Given the description of an element on the screen output the (x, y) to click on. 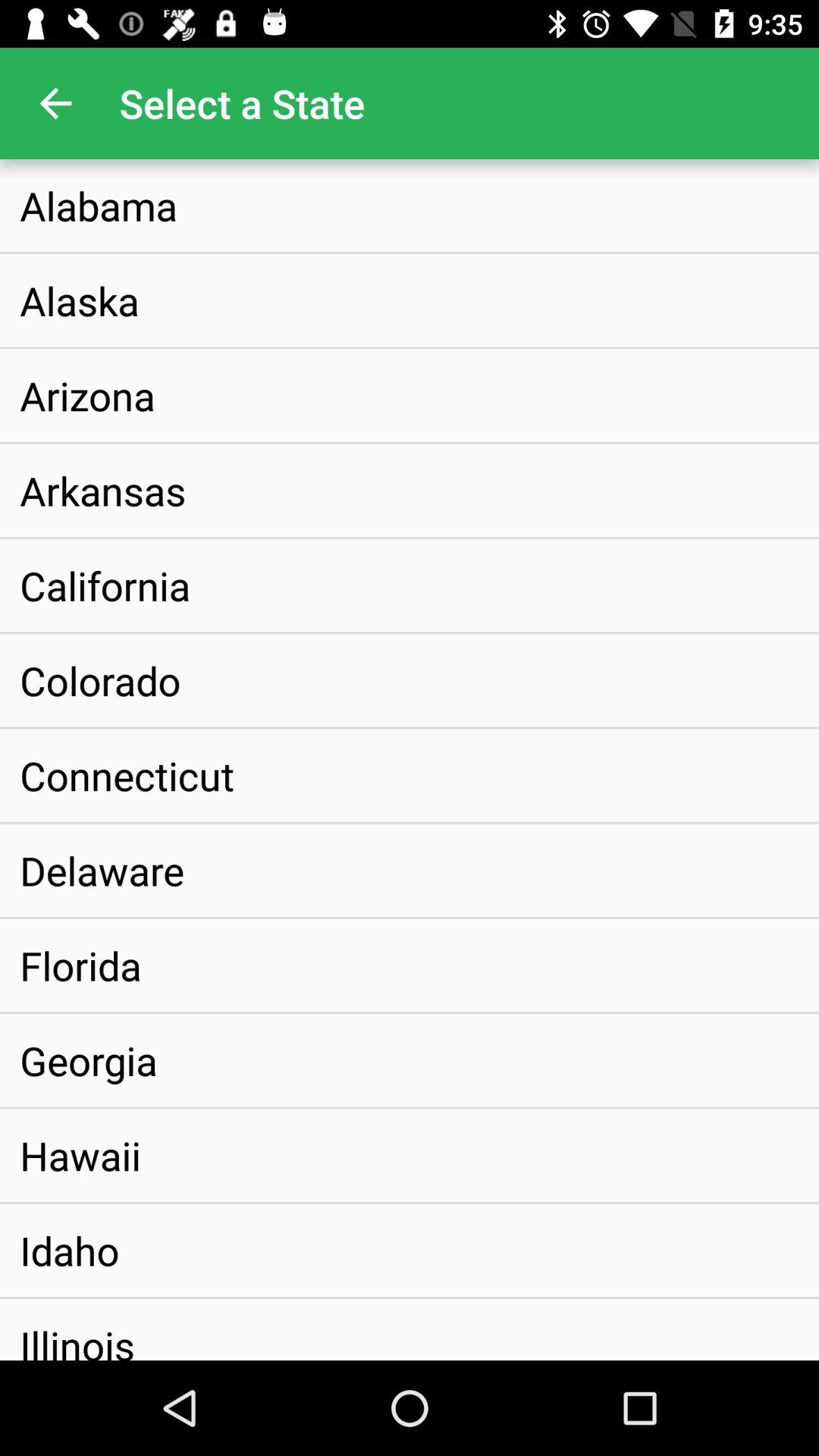
jump to arizona icon (87, 395)
